Given the description of an element on the screen output the (x, y) to click on. 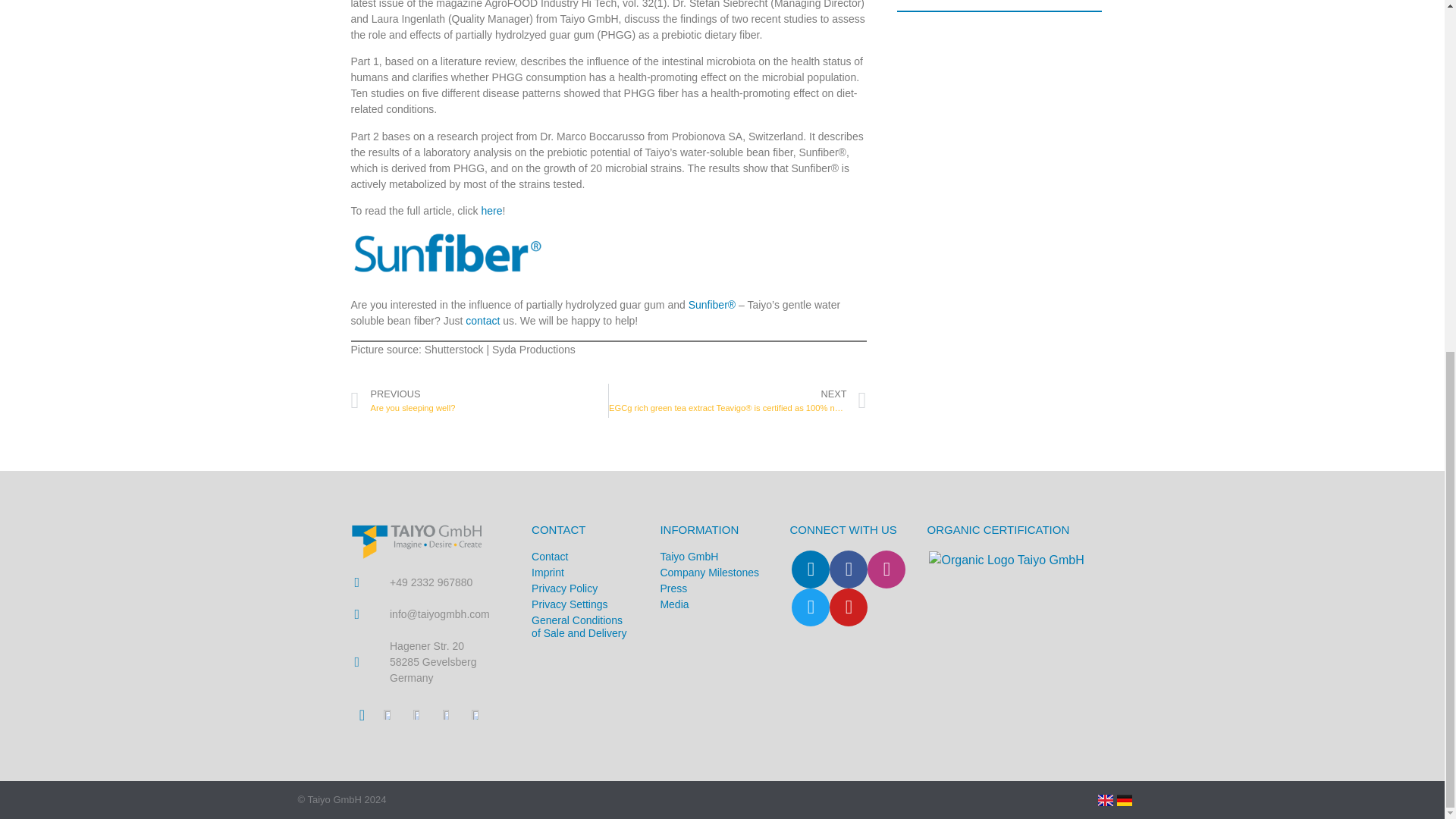
New-Organic-Logo-Website-3 (1005, 560)
contact (482, 320)
here (491, 210)
